Given the description of an element on the screen output the (x, y) to click on. 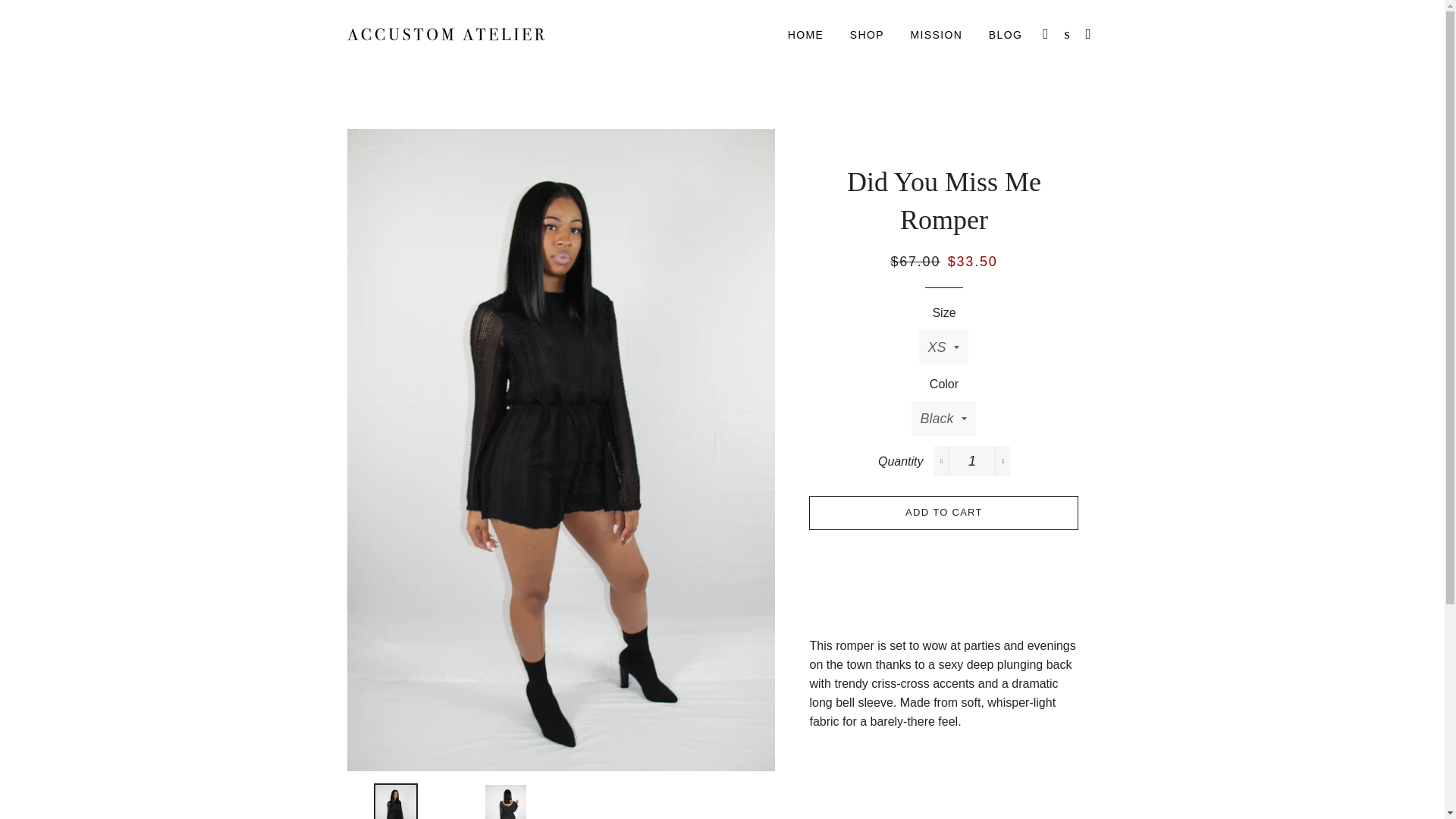
HOME (805, 35)
1 (972, 460)
SHOP (866, 35)
ADD TO CART (943, 512)
MISSION (936, 35)
BLOG (1004, 35)
